Given the description of an element on the screen output the (x, y) to click on. 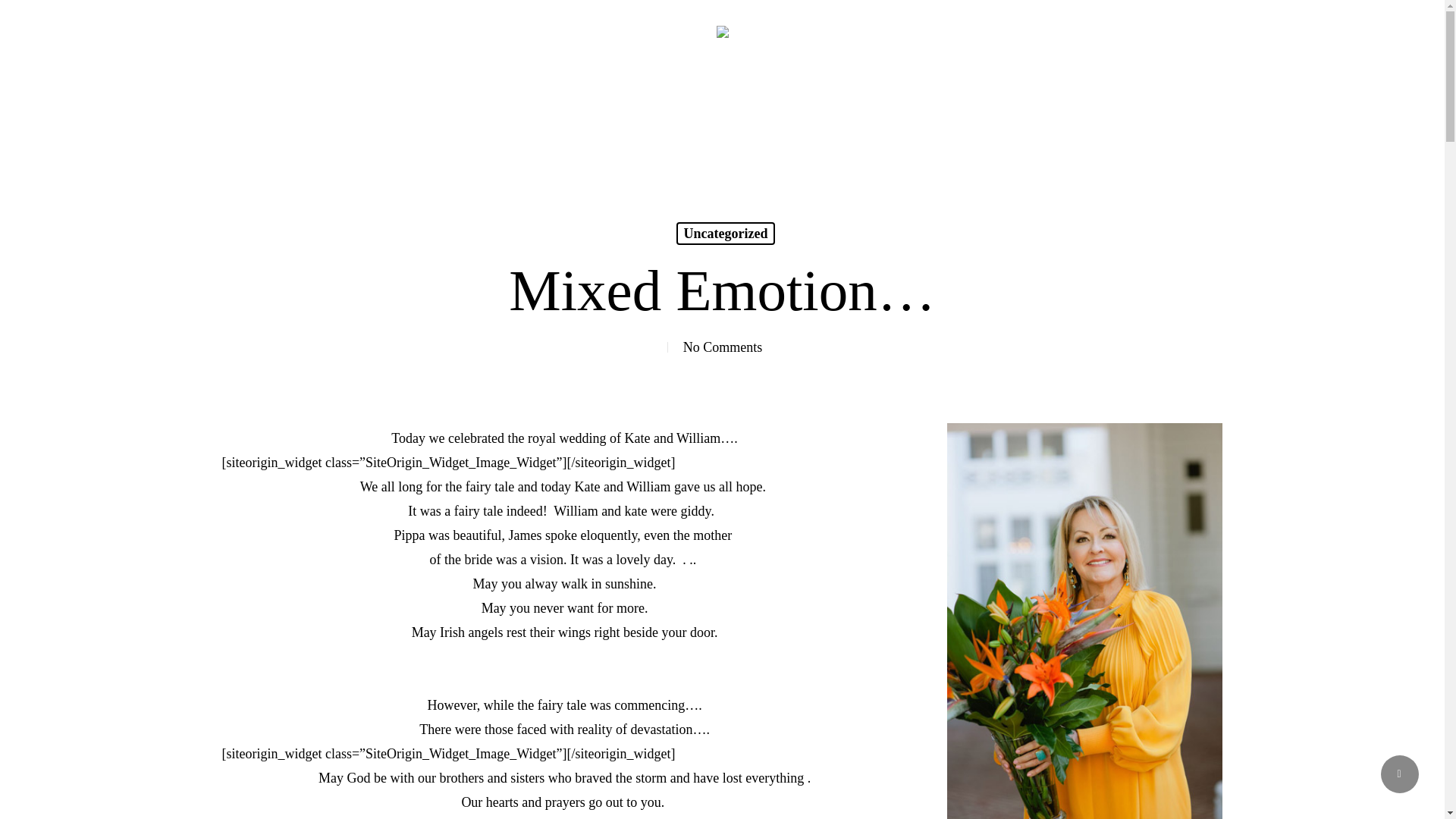
Uncategorized (726, 232)
No Comments (722, 346)
